Given the description of an element on the screen output the (x, y) to click on. 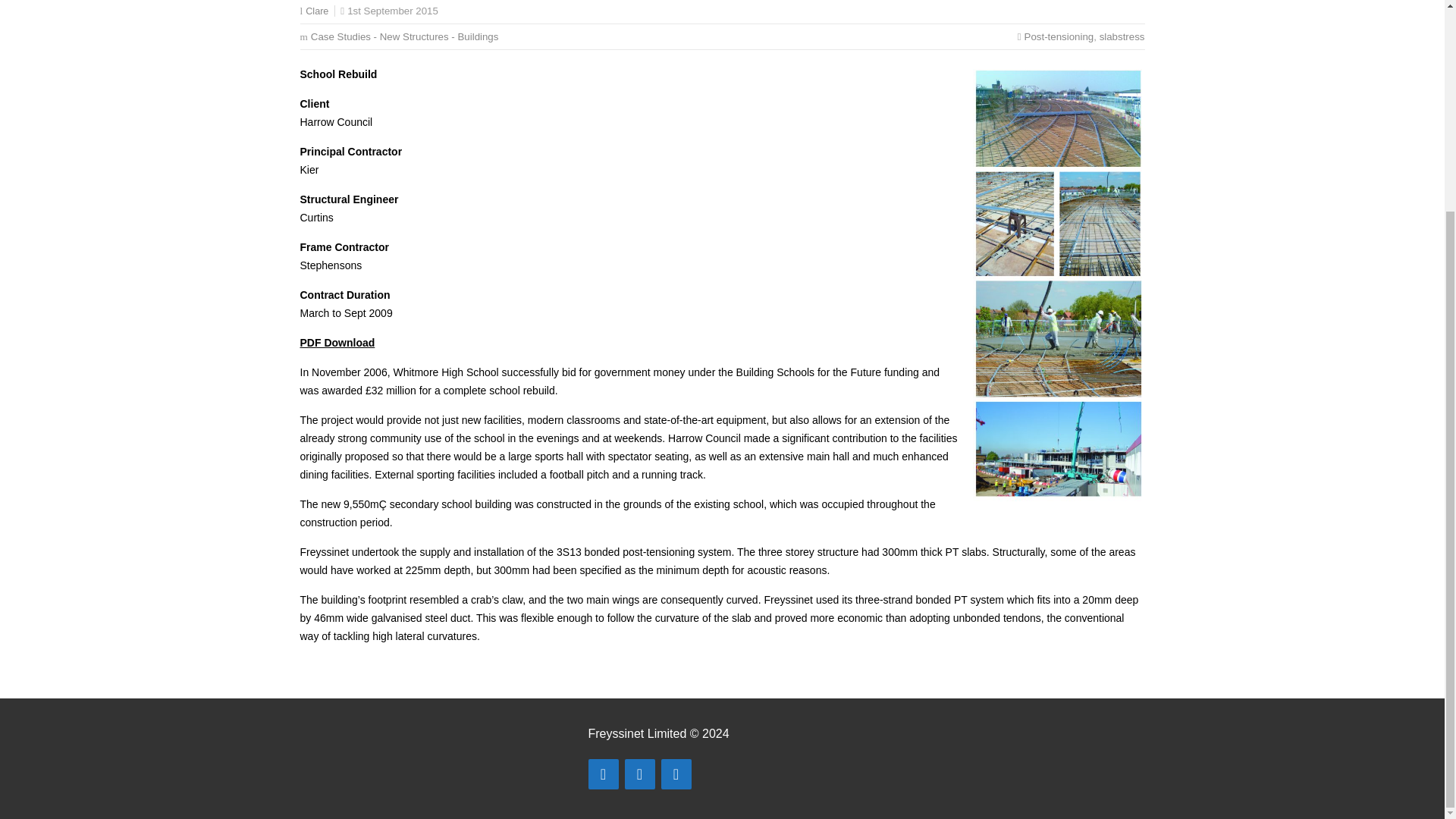
Twitter (603, 774)
LinkedIn (676, 774)
YouTube (639, 774)
Posts by Clare (317, 10)
school rebuild (1058, 284)
